Given the description of an element on the screen output the (x, y) to click on. 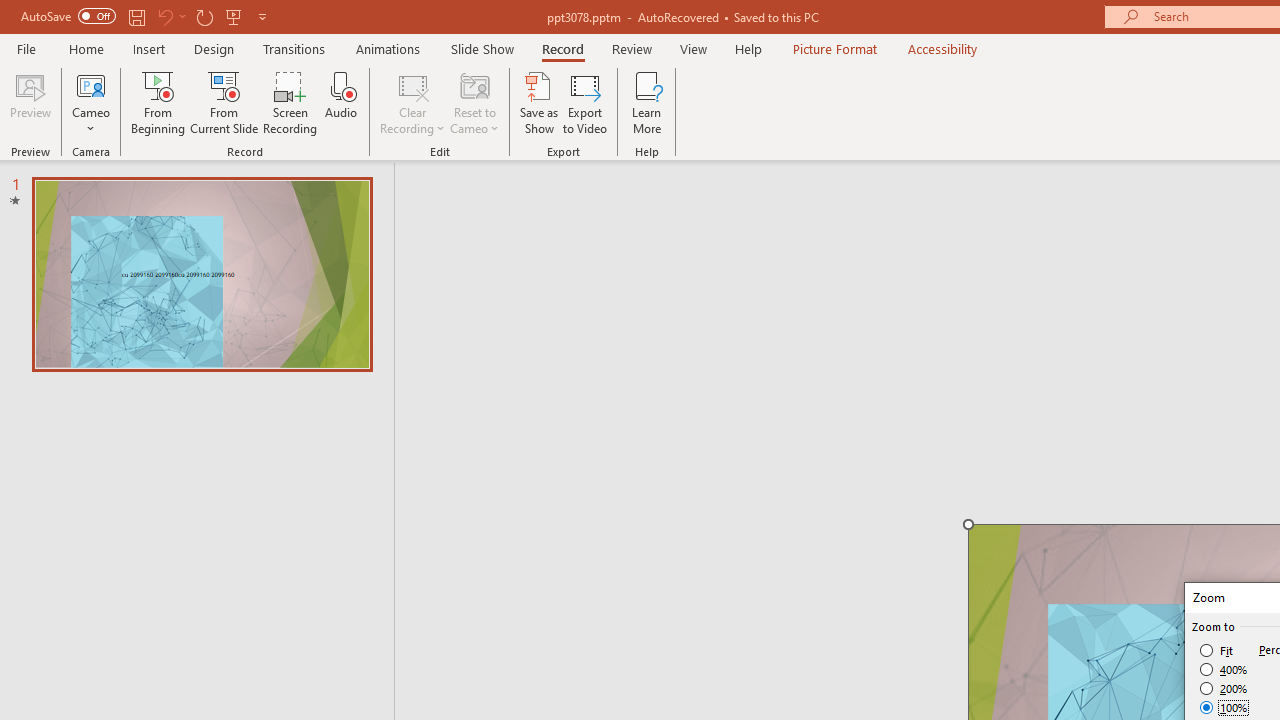
Picture Format (834, 48)
200% (1224, 688)
